Given the description of an element on the screen output the (x, y) to click on. 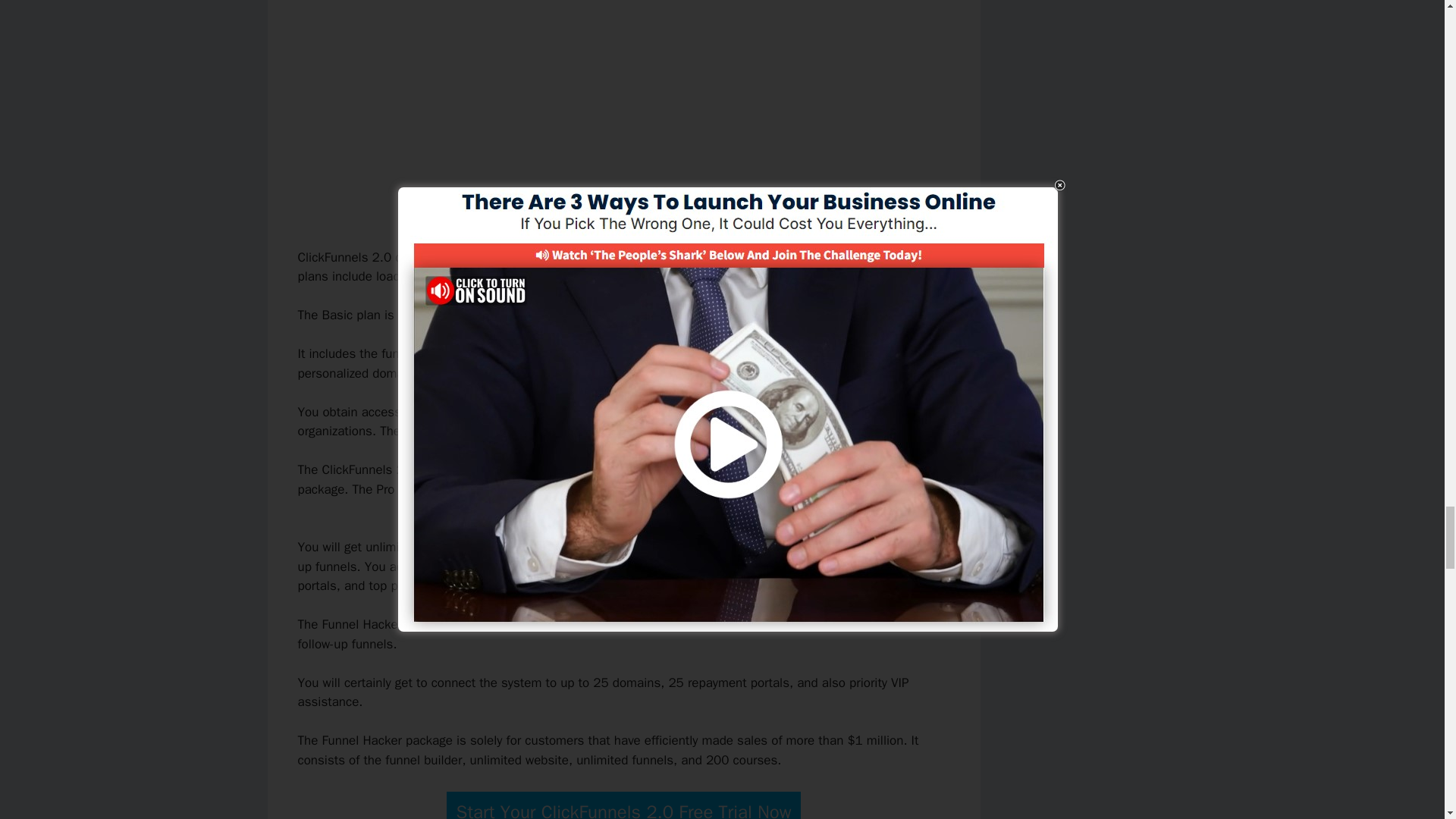
Start Your ClickFunnels 2.0 Free Trial Now (624, 805)
